Given the description of an element on the screen output the (x, y) to click on. 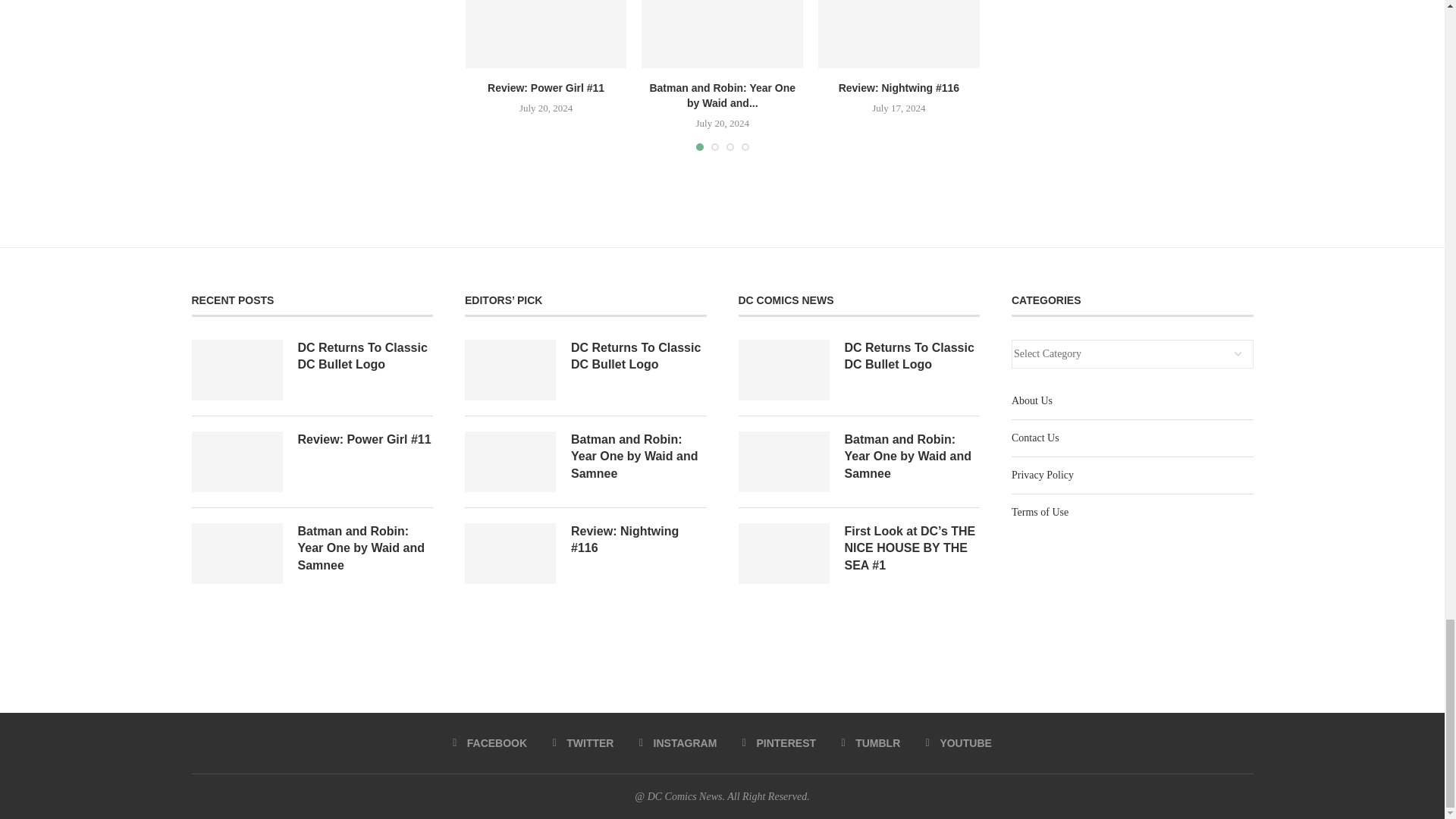
Batman and Robin: Year One by Waid and Samnee (722, 34)
